Given the description of an element on the screen output the (x, y) to click on. 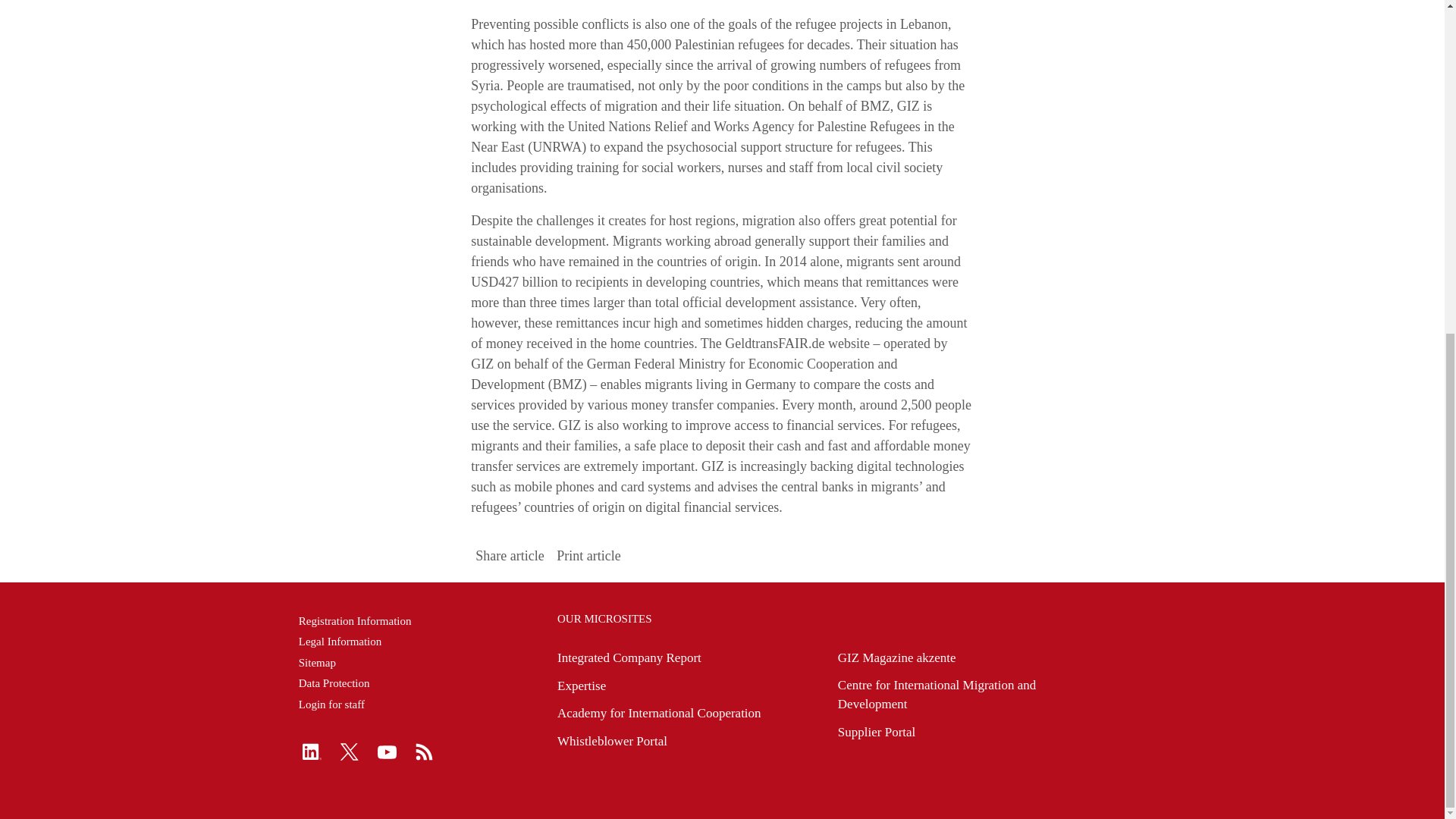
Print article (587, 556)
Share article (509, 556)
Registration Information (419, 620)
